Given the description of an element on the screen output the (x, y) to click on. 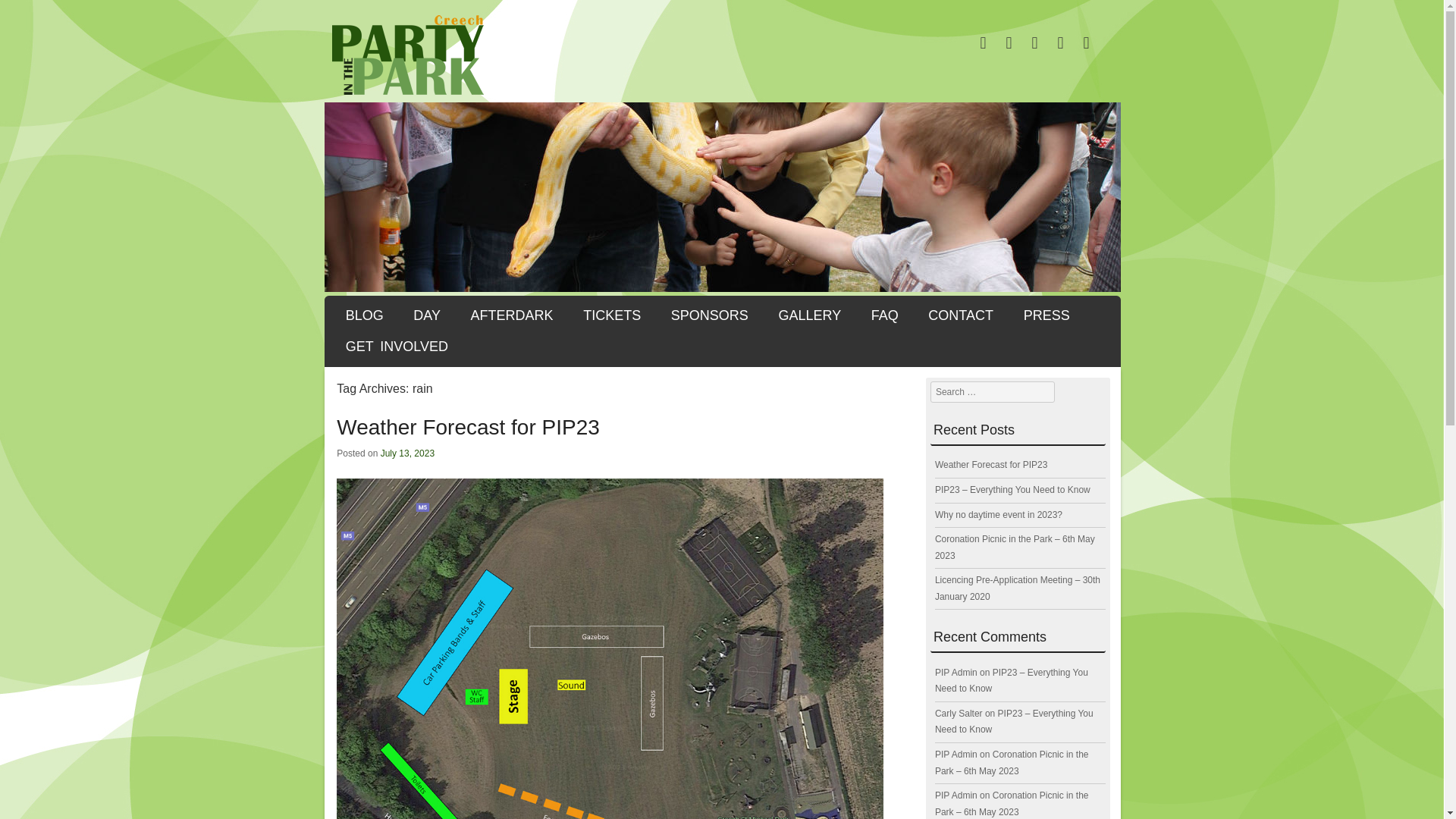
SPONSORS (709, 314)
CONTACT (960, 314)
BLOG (364, 314)
Creech Party in the Park (722, 54)
Weather Forecast for PIP23 (991, 464)
Search (33, 17)
Skip to content (397, 311)
July 13, 2023 (406, 452)
AFTERDARK (512, 314)
